Given the description of an element on the screen output the (x, y) to click on. 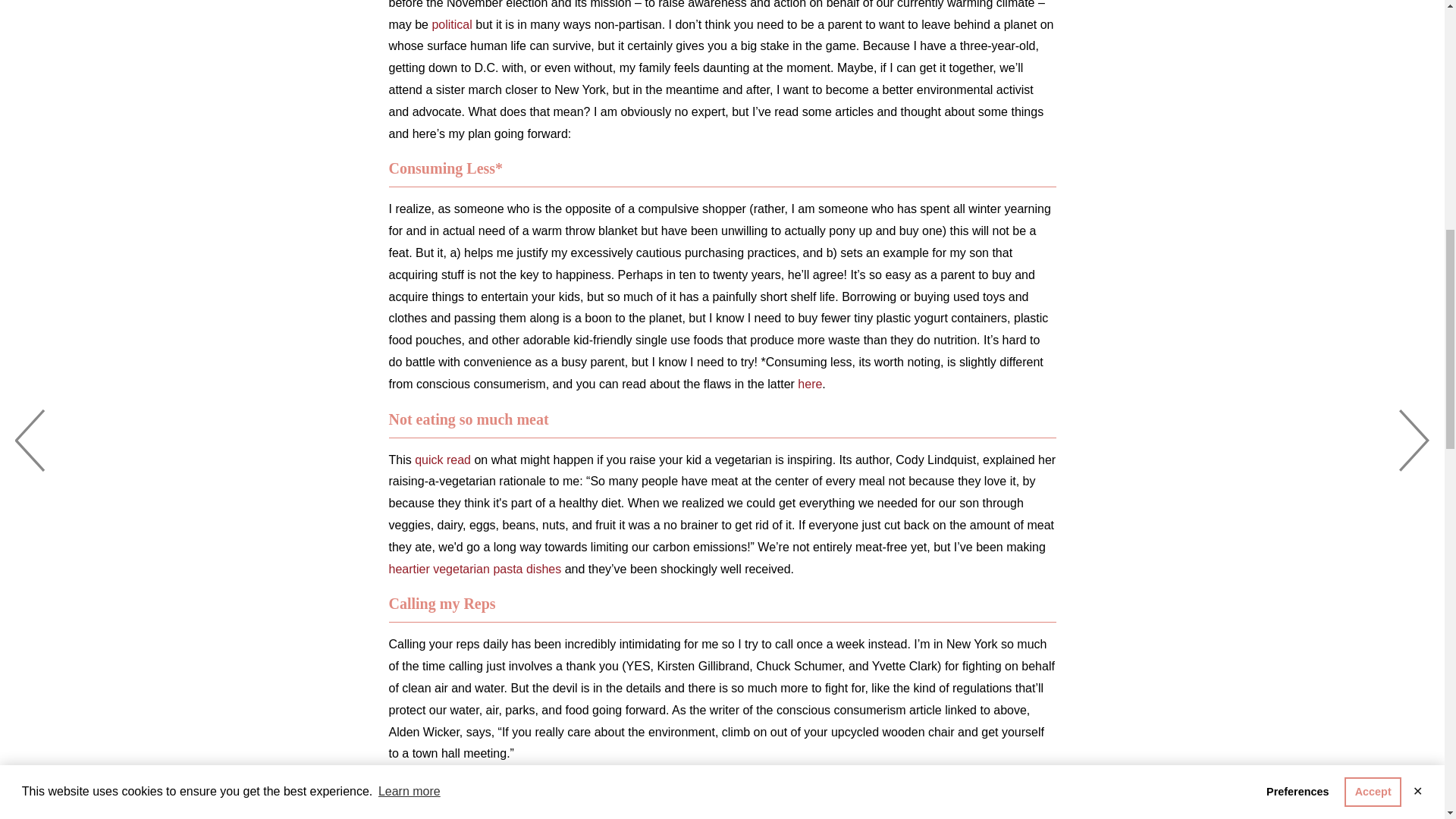
political (450, 24)
here (809, 383)
